Given the description of an element on the screen output the (x, y) to click on. 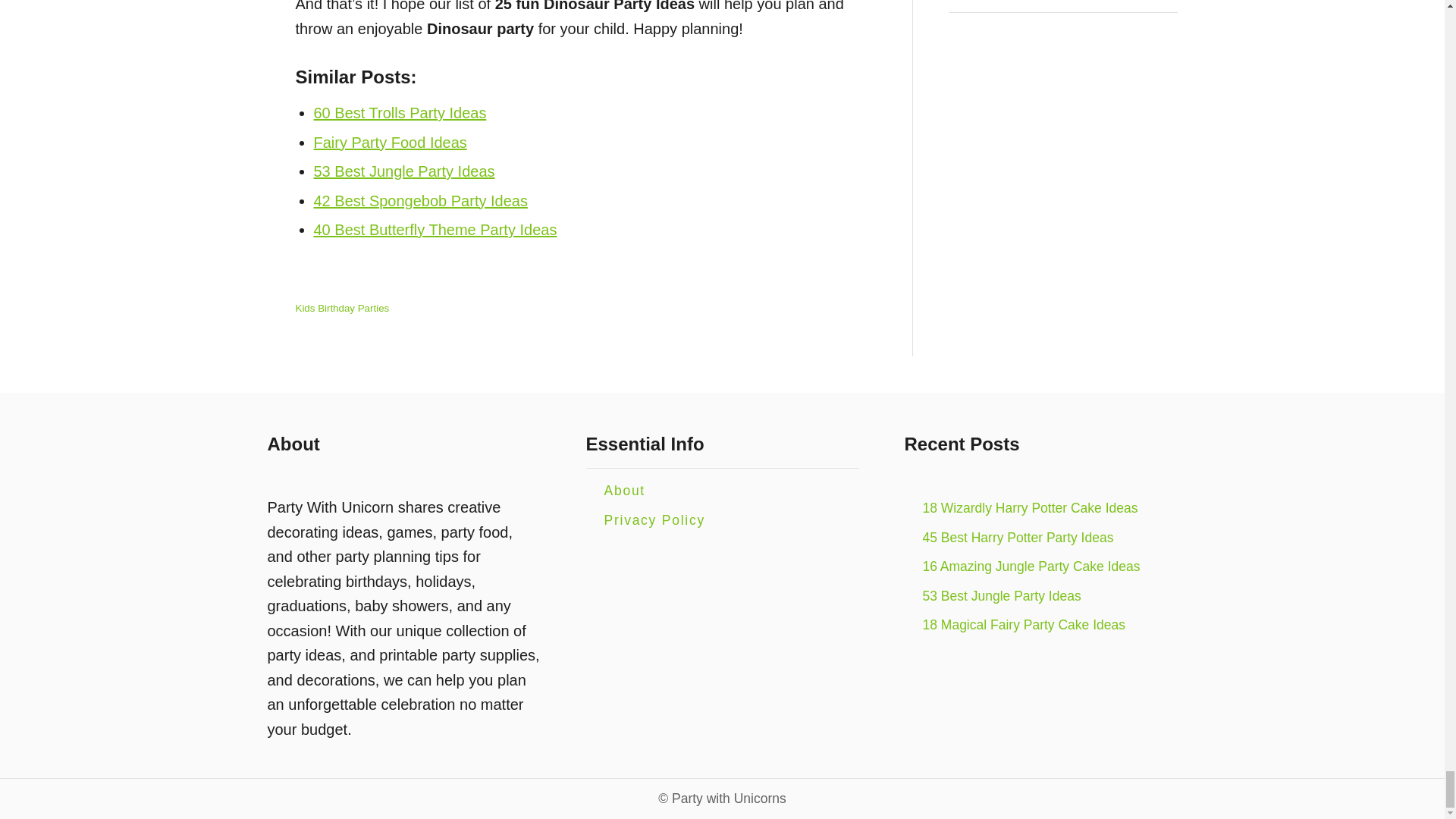
Fairy Party Food Ideas (390, 142)
40 Best Butterfly Theme Party Ideas (435, 229)
42 Best Spongebob Party Ideas (420, 200)
53 Best Jungle Party Ideas (404, 170)
60 Best Trolls Party Ideas (400, 112)
